Given the description of an element on the screen output the (x, y) to click on. 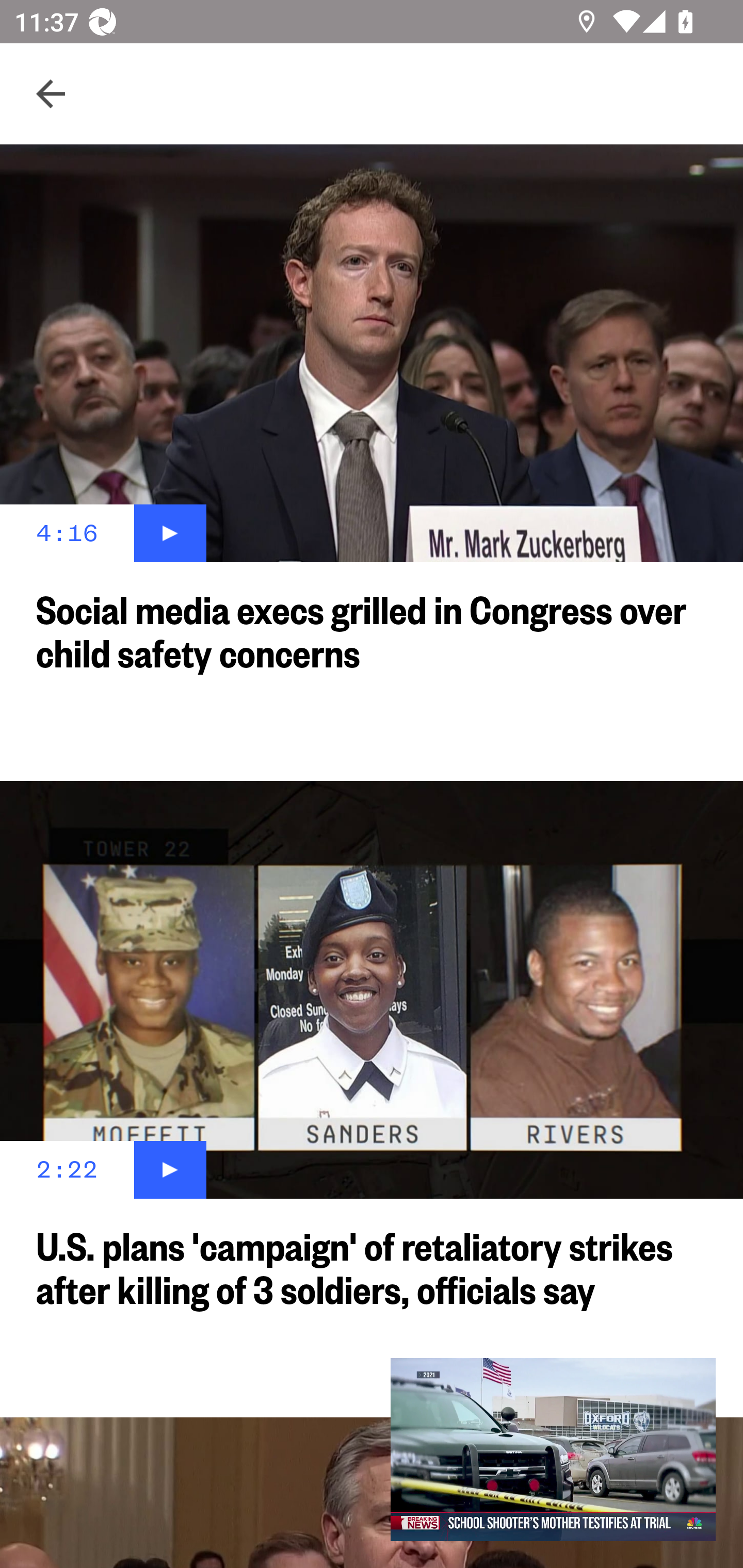
Navigate up (50, 93)
